Given the description of an element on the screen output the (x, y) to click on. 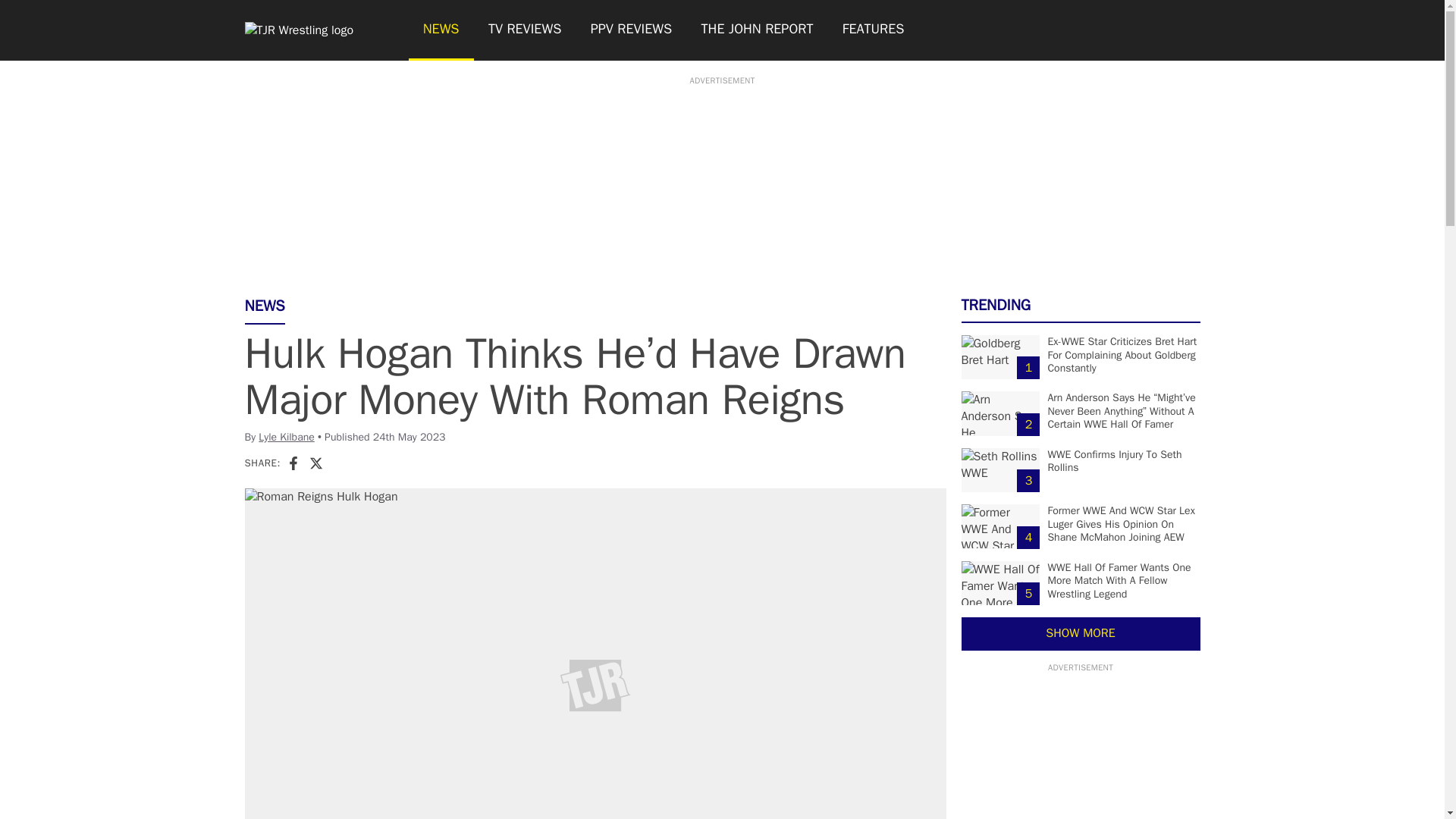
THE JOHN REPORT (756, 30)
TV REVIEWS (525, 30)
Lyle Kilbane (286, 436)
Facebook (292, 463)
NEWS (440, 30)
PPV REVIEWS (631, 30)
FEATURES (873, 30)
Facebook (292, 462)
X (315, 462)
X (315, 463)
